Given the description of an element on the screen output the (x, y) to click on. 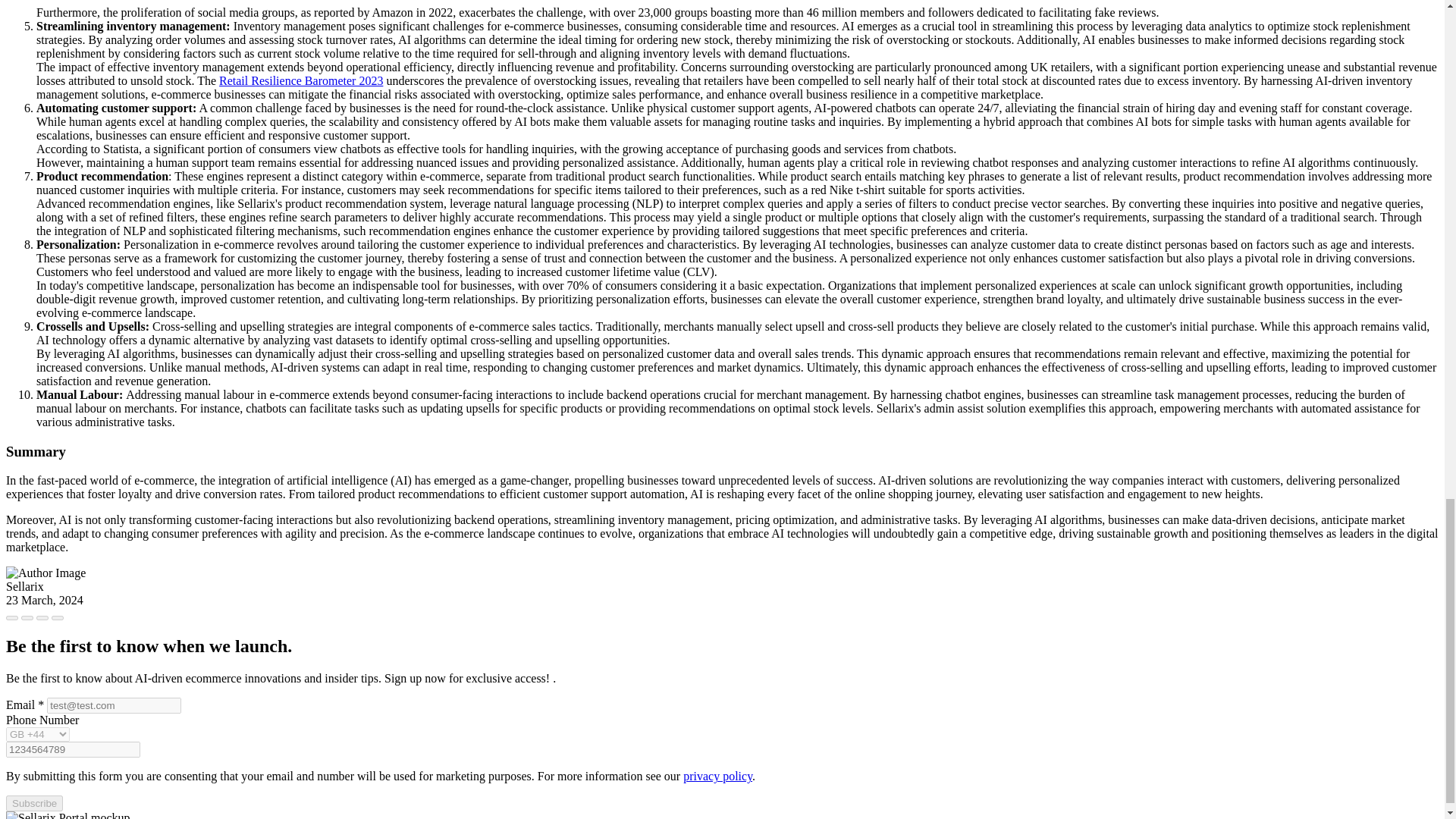
Retail Resilience Barometer 2023 (300, 80)
Subscribe (33, 803)
privacy policy (717, 775)
